Given the description of an element on the screen output the (x, y) to click on. 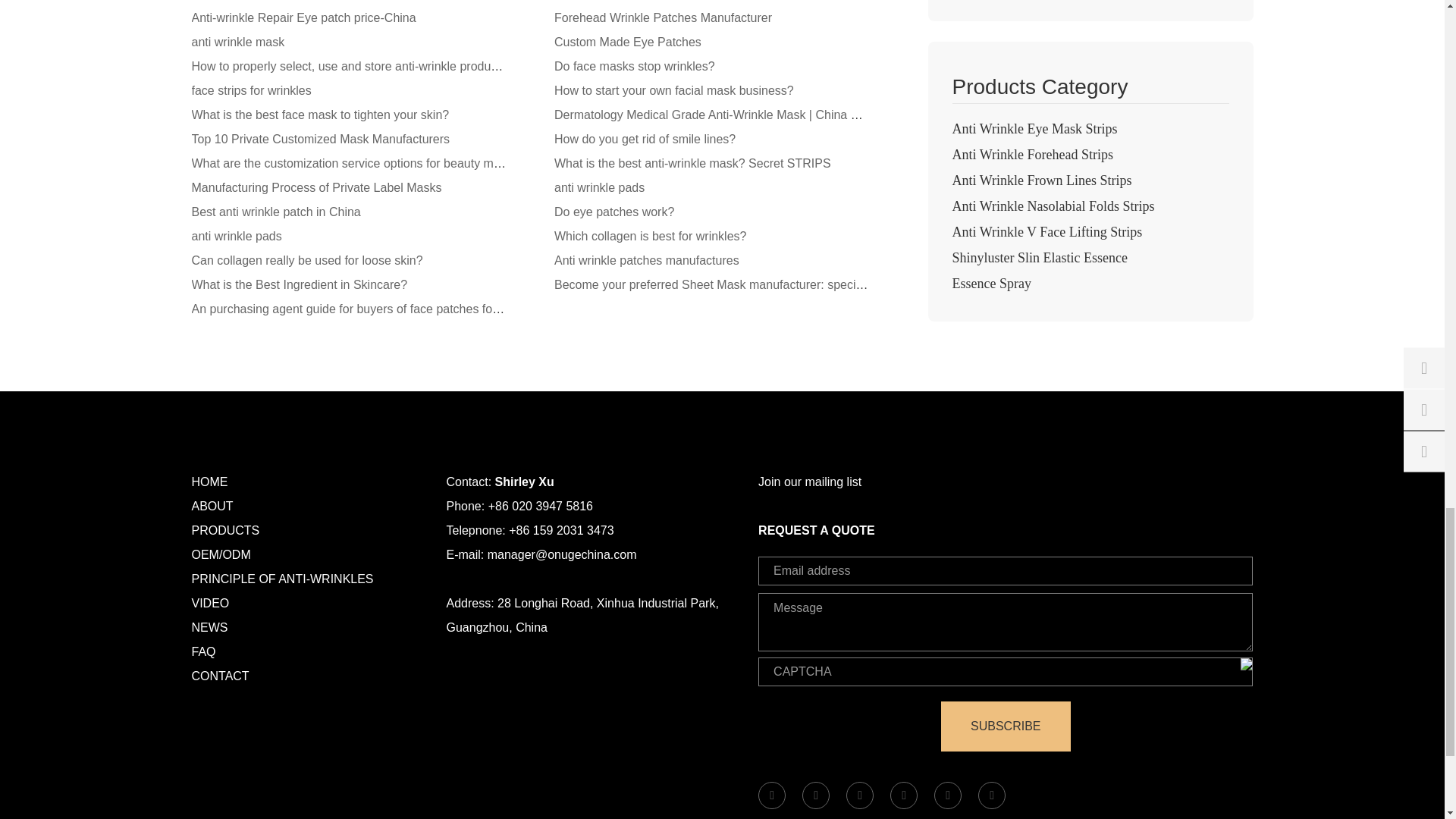
SUBSCRIBE (1005, 726)
